Given the description of an element on the screen output the (x, y) to click on. 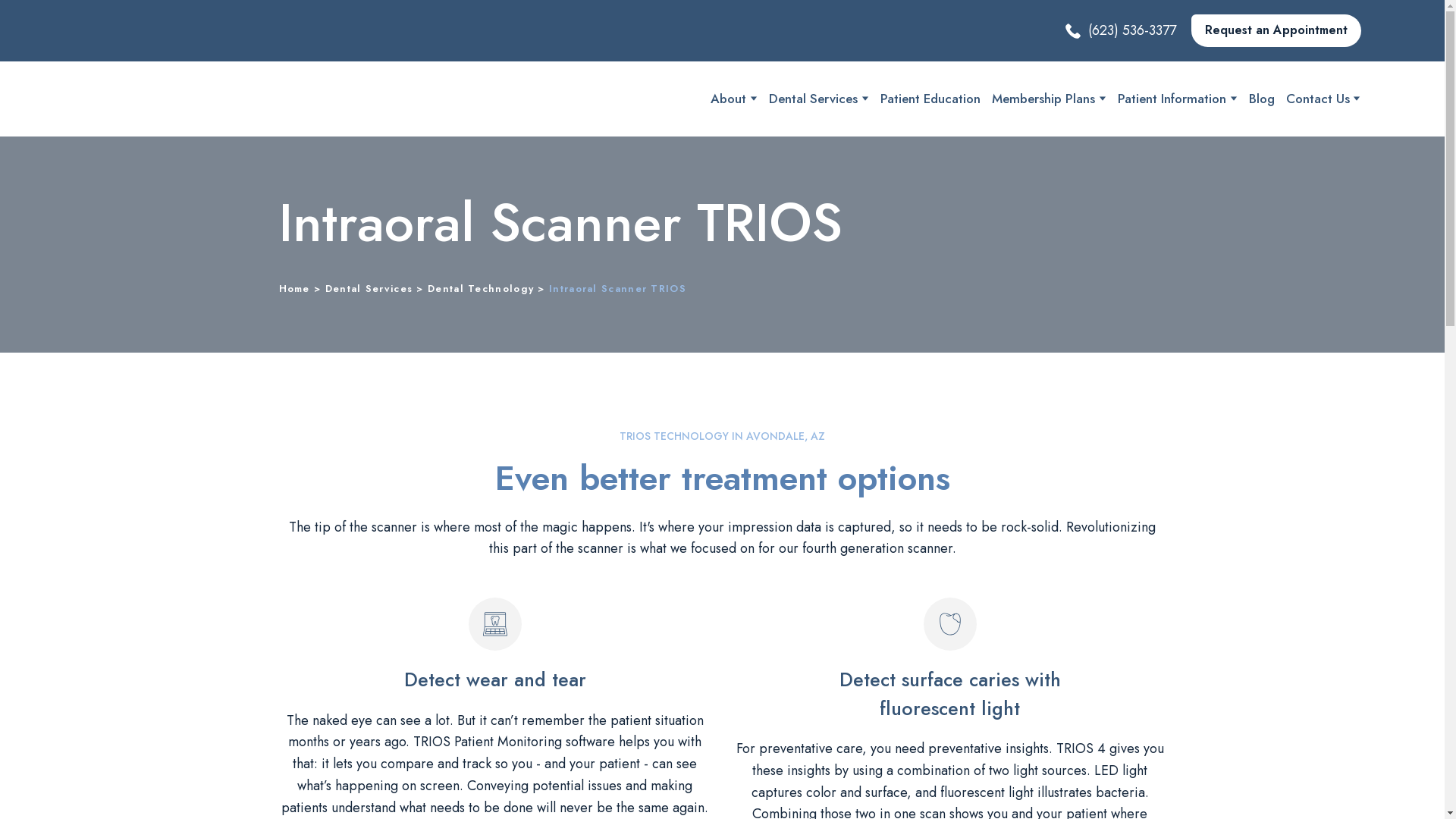
Membership Plans (1042, 98)
Patient Education (929, 98)
Blog (1262, 98)
Patient Information (1171, 98)
Contact Us (1317, 98)
Dental Services (812, 98)
About (727, 98)
Request an Appointment (1276, 30)
